Given the description of an element on the screen output the (x, y) to click on. 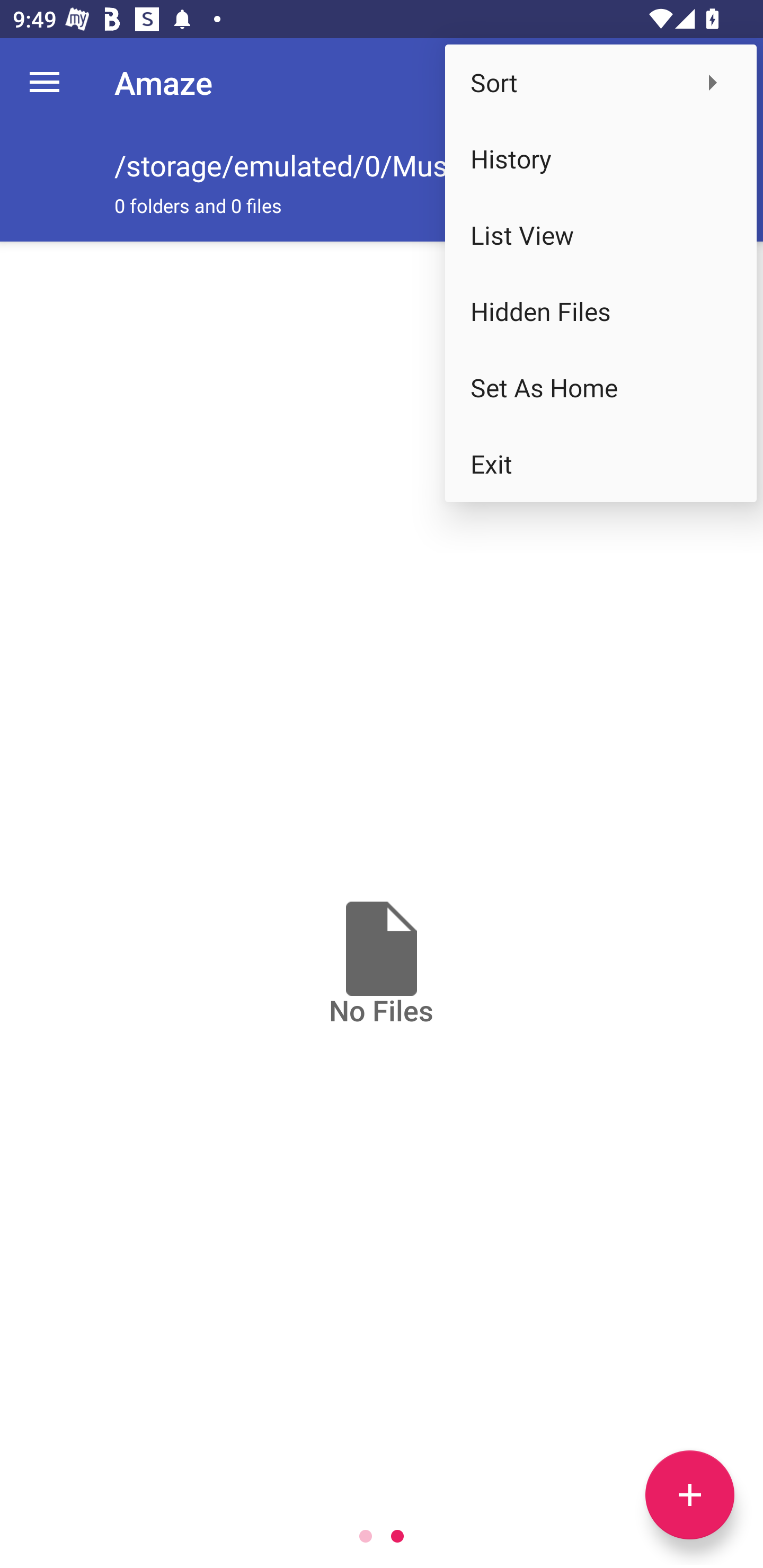
Sort (600, 81)
History (600, 158)
List View (600, 234)
Hidden Files (600, 310)
Set As Home (600, 387)
Exit (600, 463)
